Given the description of an element on the screen output the (x, y) to click on. 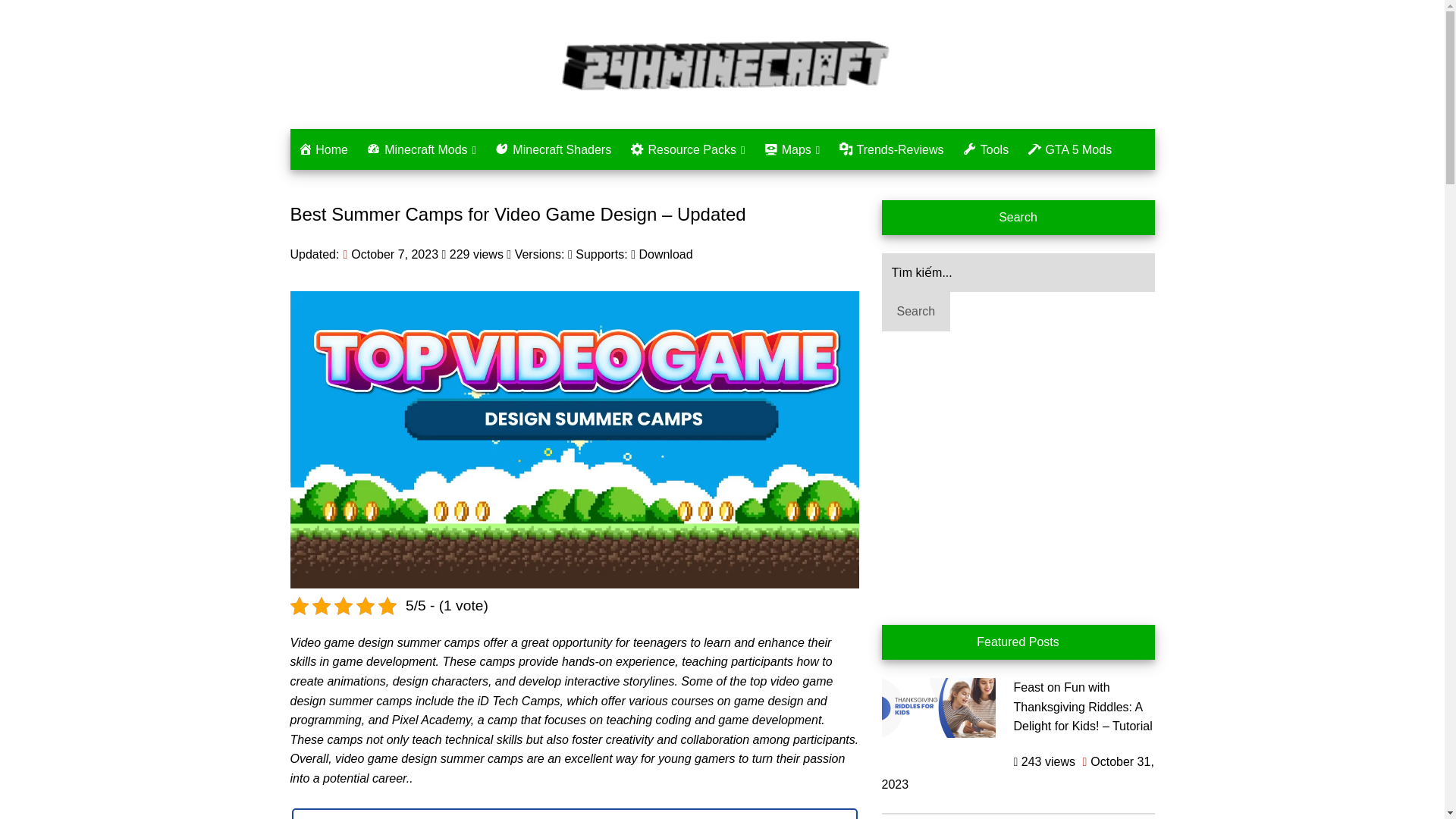
Trends-Reviews (891, 149)
Search (915, 311)
Resource Packs (687, 149)
Search (915, 311)
Home (322, 149)
Resource Packs (687, 149)
Minecraft Shaders (553, 149)
Maps (791, 149)
Minecraft Mods (420, 149)
Minecraft Mods (420, 149)
